Given the description of an element on the screen output the (x, y) to click on. 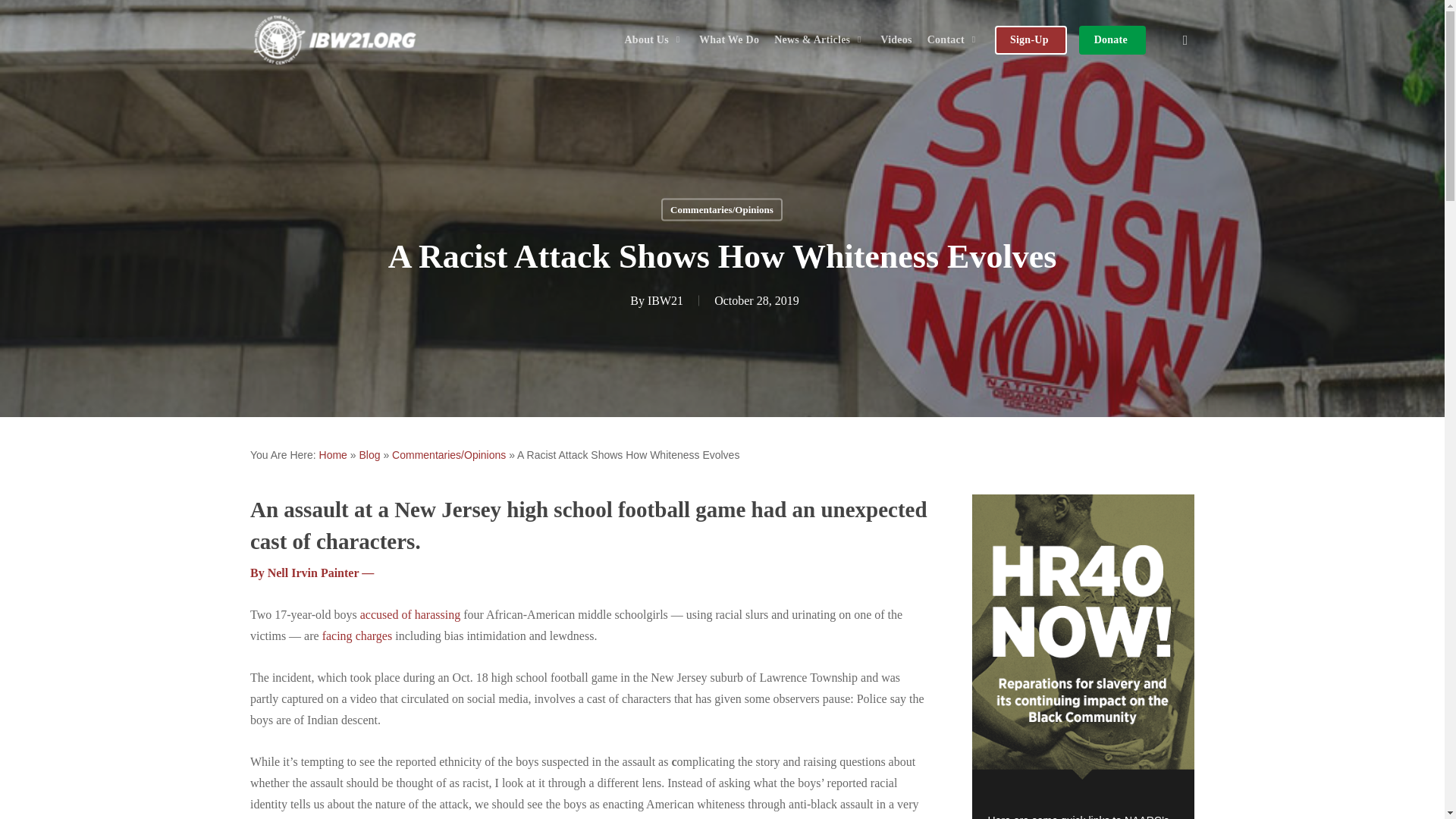
Home (332, 454)
IBW21 (664, 300)
Contact (953, 40)
search (1184, 38)
charges (374, 635)
Videos (895, 40)
What We Do (729, 40)
About Us (652, 40)
Donate (1110, 40)
accused of harassing (409, 614)
Sign-Up (1029, 40)
Posts by IBW21 (664, 300)
Blog (369, 454)
facing  (338, 635)
